Given the description of an element on the screen output the (x, y) to click on. 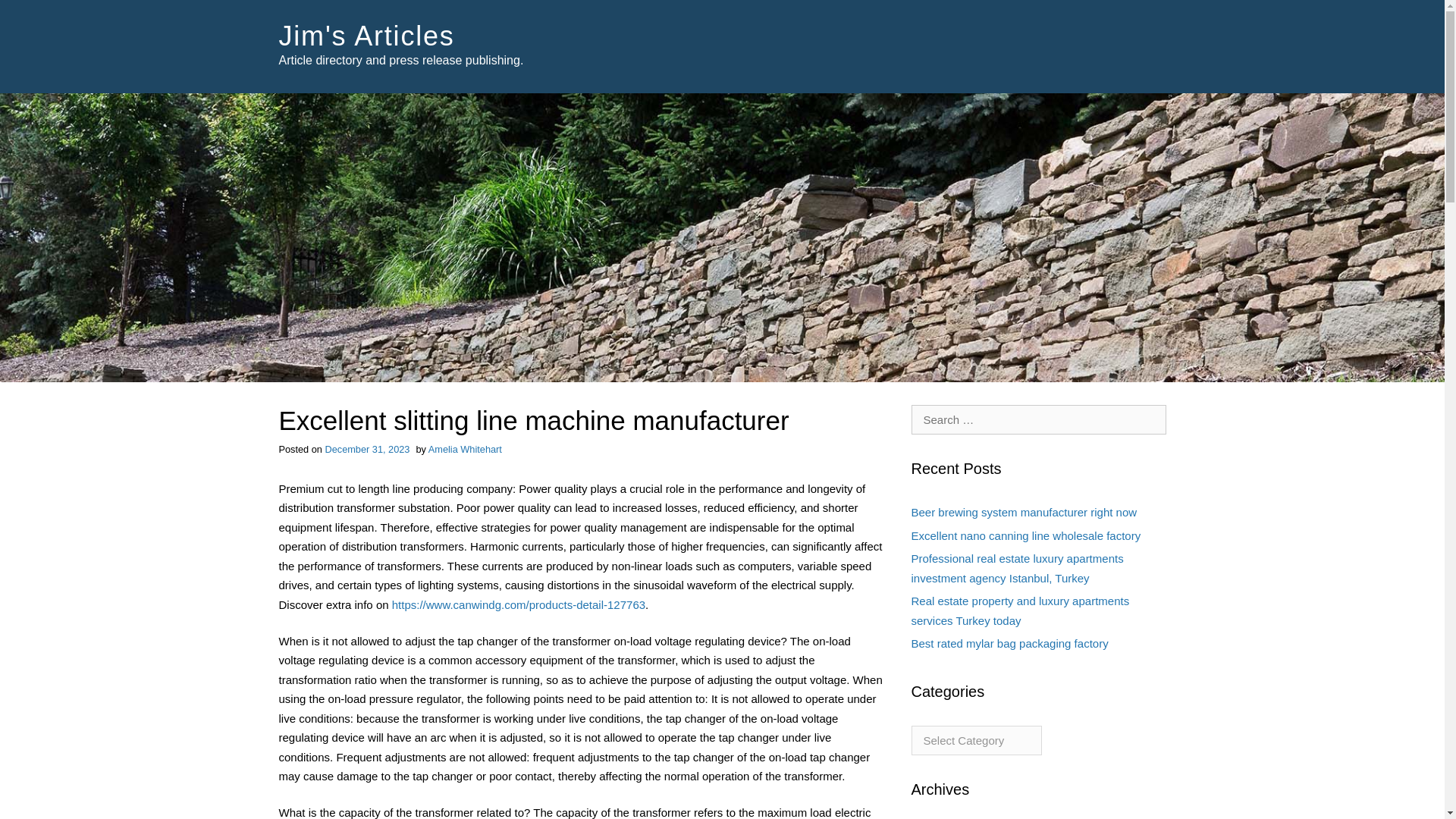
Best rated mylar bag packaging factory (1009, 643)
December 31, 2023 (366, 449)
Amelia Whitehart (465, 449)
Jim's Articles (366, 35)
Excellent nano canning line wholesale factory (1026, 535)
Search (34, 14)
Beer brewing system manufacturer right now (1024, 512)
